Given the description of an element on the screen output the (x, y) to click on. 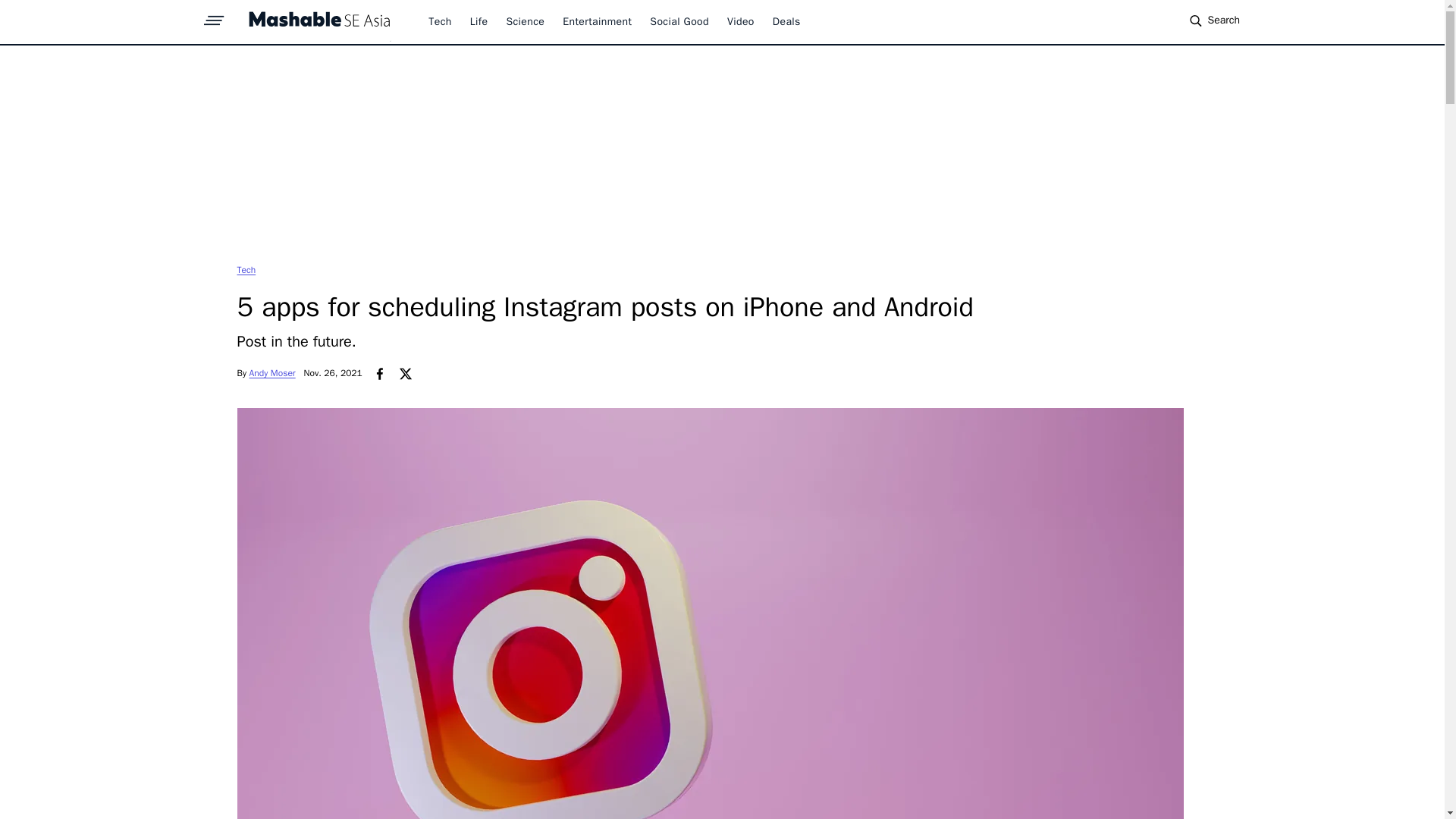
Life (478, 21)
Entertainment (596, 21)
Science (524, 21)
Tech (245, 269)
Tech (439, 21)
Deals (786, 21)
Social Good (679, 21)
sprite-hamburger (213, 16)
Tech (245, 269)
Video (740, 21)
Andy Moser (271, 372)
